Given the description of an element on the screen output the (x, y) to click on. 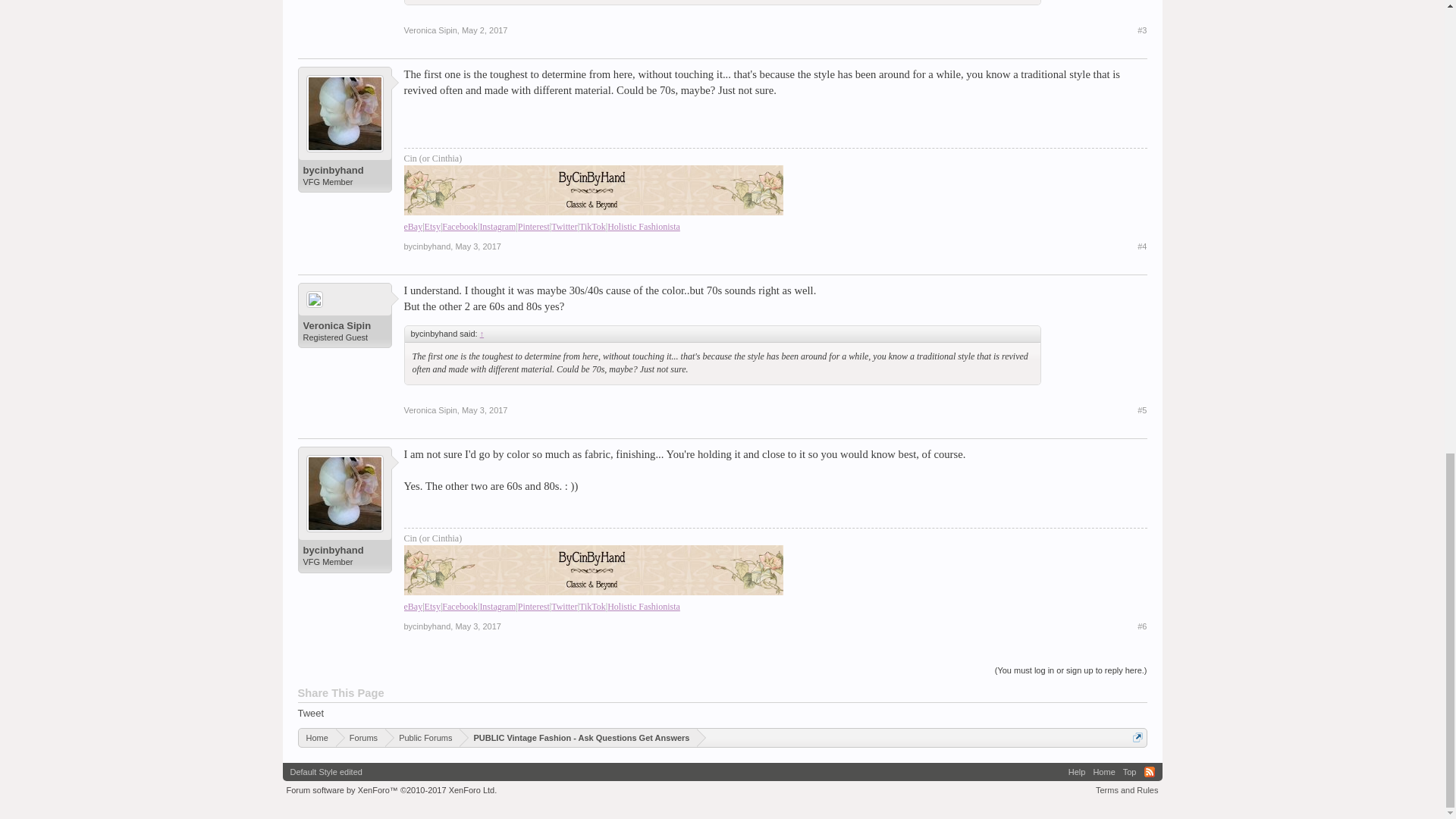
Permalink (477, 245)
Permalink (484, 30)
